Given the description of an element on the screen output the (x, y) to click on. 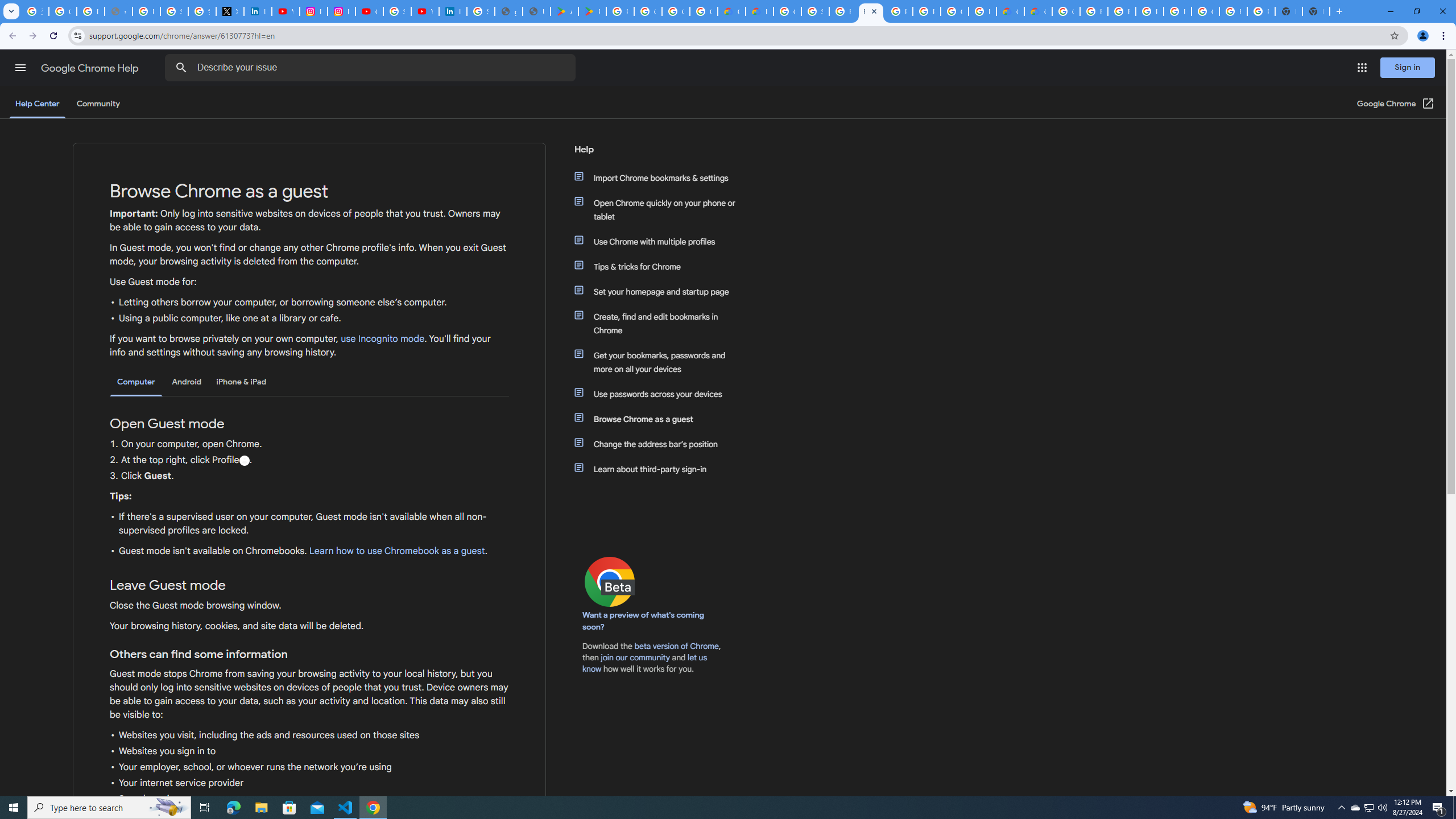
Google Cloud Platform (955, 11)
Browse Chrome as a guest - Computer - Google Chrome Help (842, 11)
Profile (243, 460)
Customer Care | Google Cloud (1010, 11)
Google Workspace - Specific Terms (675, 11)
Google Cloud Platform (787, 11)
let us know (644, 663)
Use passwords across your devices (661, 394)
